Given the description of an element on the screen output the (x, y) to click on. 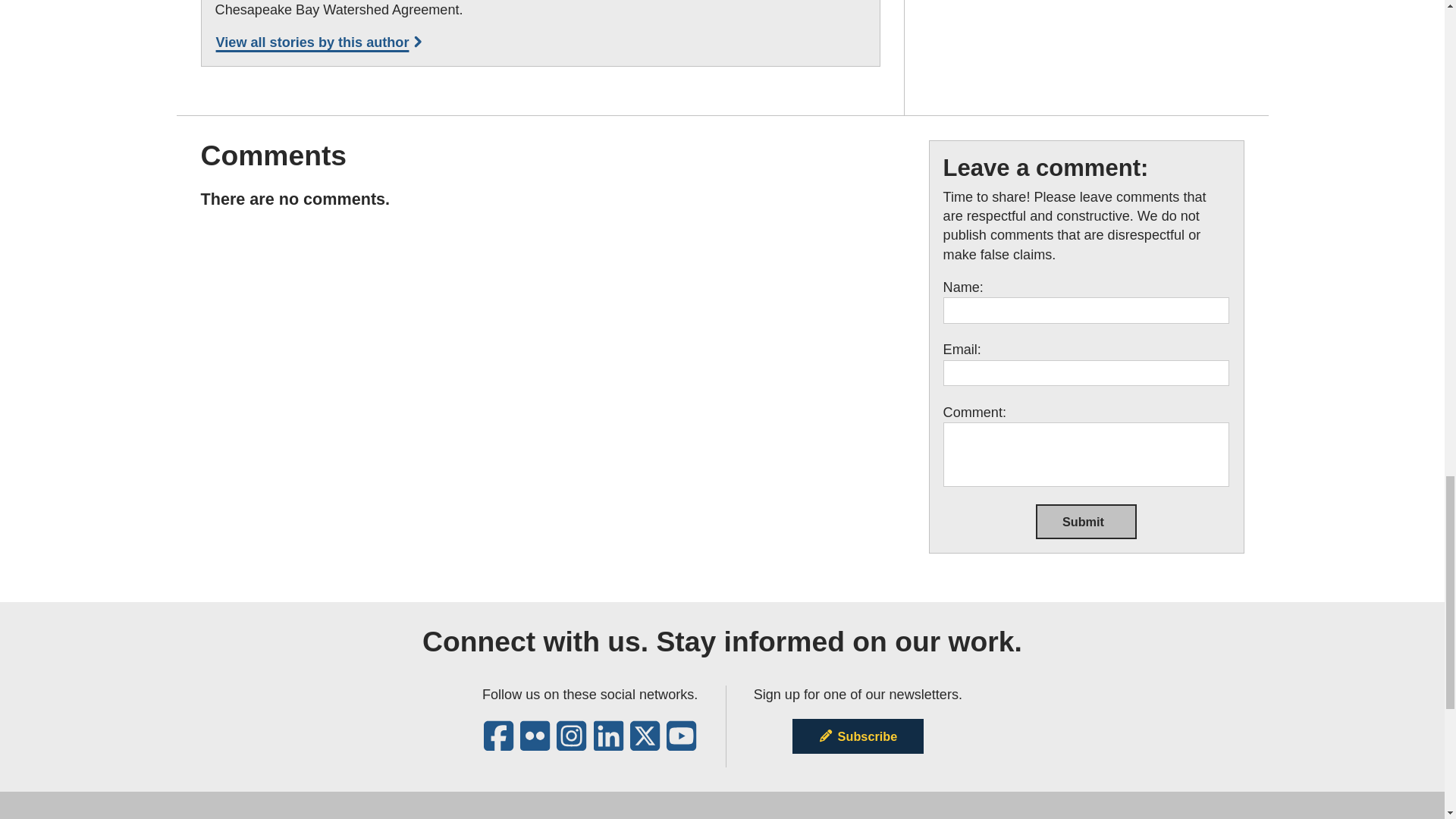
Follow us on LinkedIn (608, 743)
Follow us on X, formerly known as Twitter (644, 743)
Visit us on YouTube (680, 743)
Visit us on Facebook (498, 743)
Follow us on Instagram (571, 743)
View our photos on Flickr (534, 743)
